Given the description of an element on the screen output the (x, y) to click on. 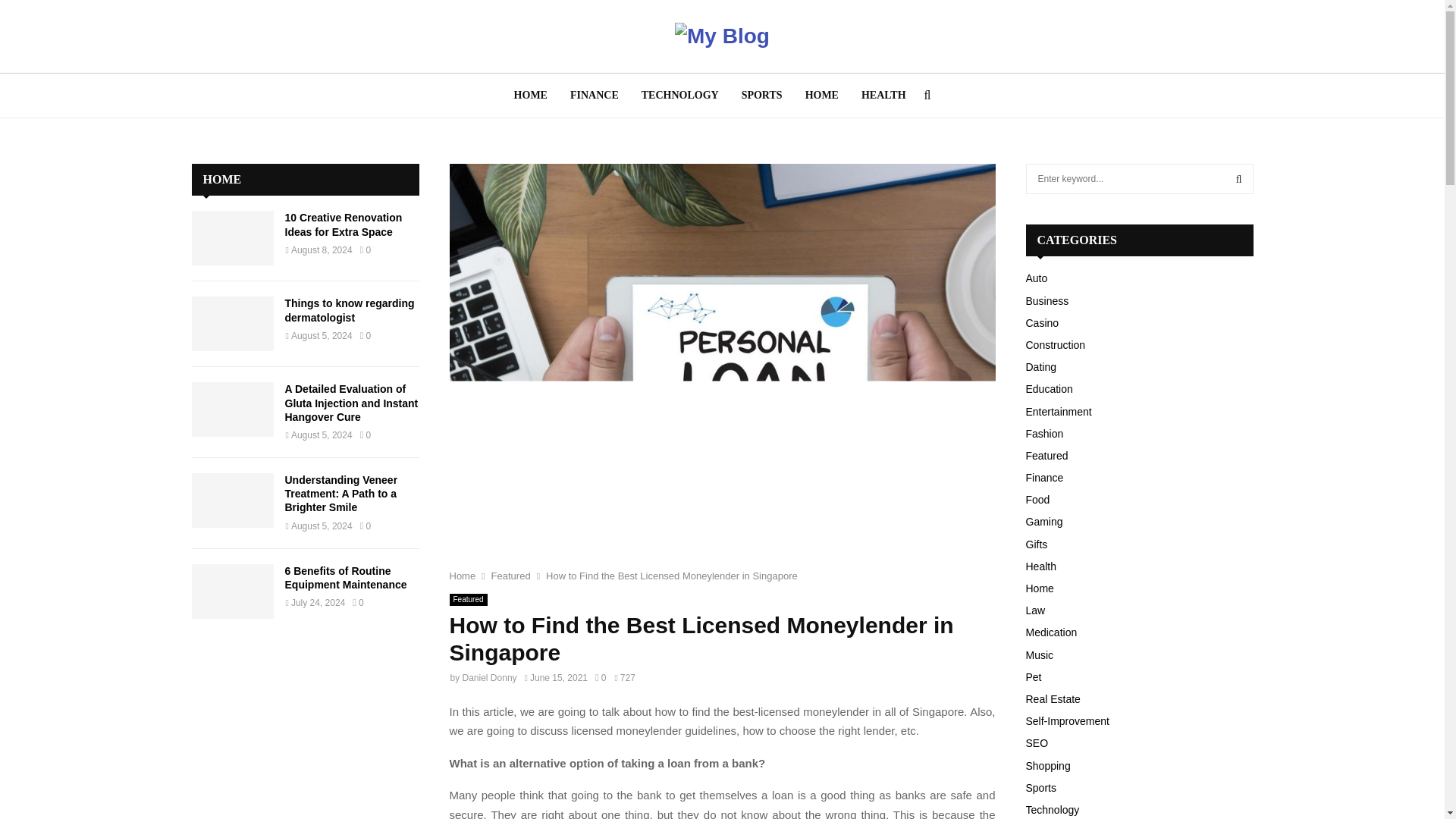
Things to know regarding dermatologist (231, 323)
Featured (511, 575)
TECHNOLOGY (680, 94)
Featured (467, 599)
10 Creative Renovation Ideas for Extra Space (231, 237)
HEALTH (883, 94)
How to Find the Best Licensed Moneylender in Singapore (671, 575)
SPORTS (762, 94)
10 Creative Renovation Ideas for Extra Space (344, 224)
0 (600, 677)
